Given the description of an element on the screen output the (x, y) to click on. 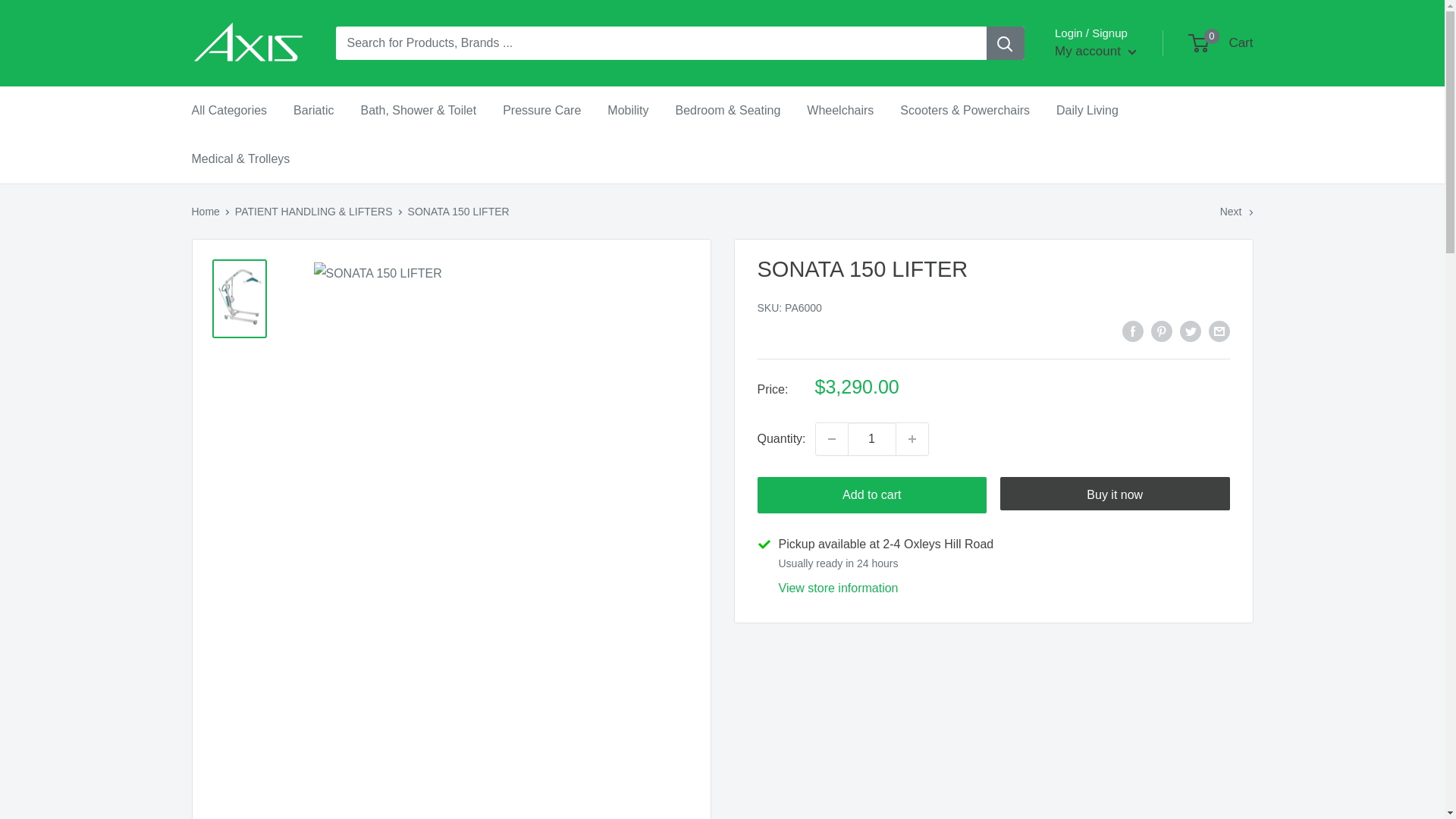
Mobility (627, 110)
Increase quantity by 1 (912, 439)
Decrease quantity by 1 (831, 439)
Home (204, 211)
Bariatic (313, 110)
Pressure Care (541, 110)
1 (871, 439)
All Categories (228, 110)
Wheelchairs (839, 110)
Daily Living (1087, 110)
